Given the description of an element on the screen output the (x, y) to click on. 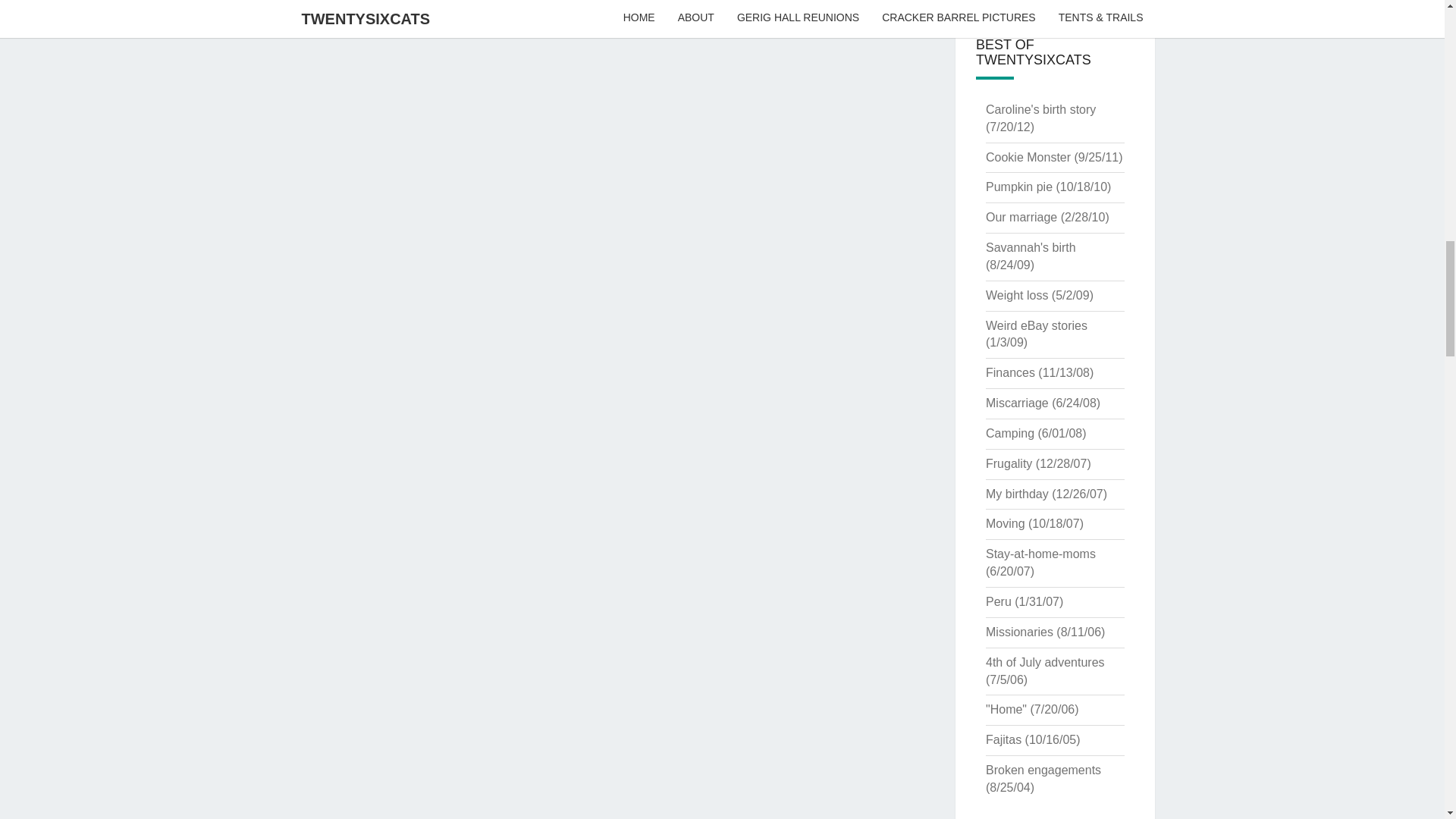
Caroline's birth story (1040, 109)
Finances (1010, 372)
Miscarriage (1016, 402)
Camping (1009, 432)
Our marriage (1021, 216)
Frugality (1008, 463)
Savannah's birth (1030, 246)
Cookie Monster (1027, 156)
My birthday (1016, 493)
Weight loss (1016, 295)
Pumpkin pie (1018, 186)
Weird eBay stories (1036, 325)
